Given the description of an element on the screen output the (x, y) to click on. 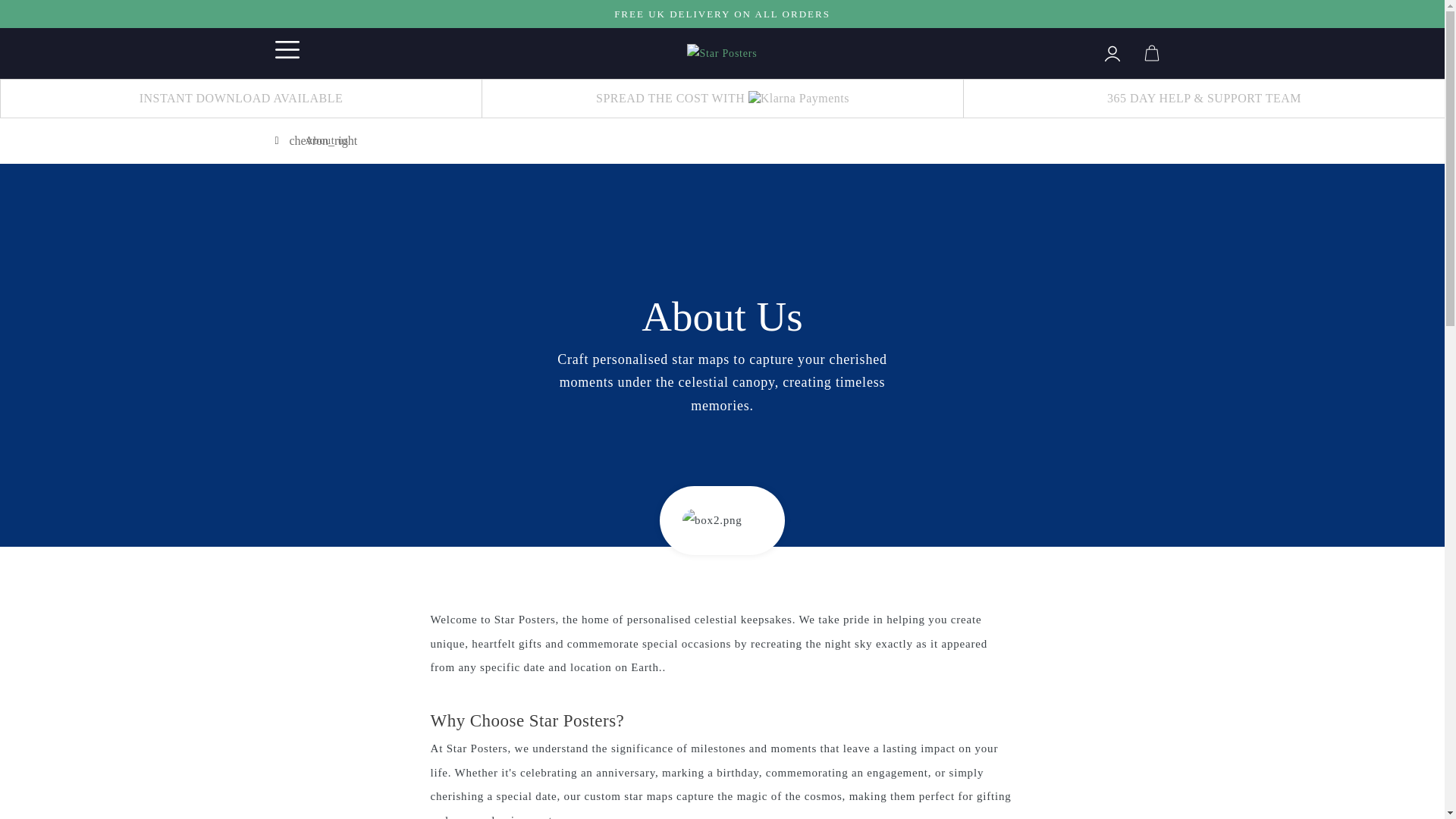
Log in to your customer account (1111, 52)
Star Posters (722, 52)
INSTANT DOWNLOAD AVAILABLE (241, 97)
SPREAD THE COST WITH (721, 97)
